Given the description of an element on the screen output the (x, y) to click on. 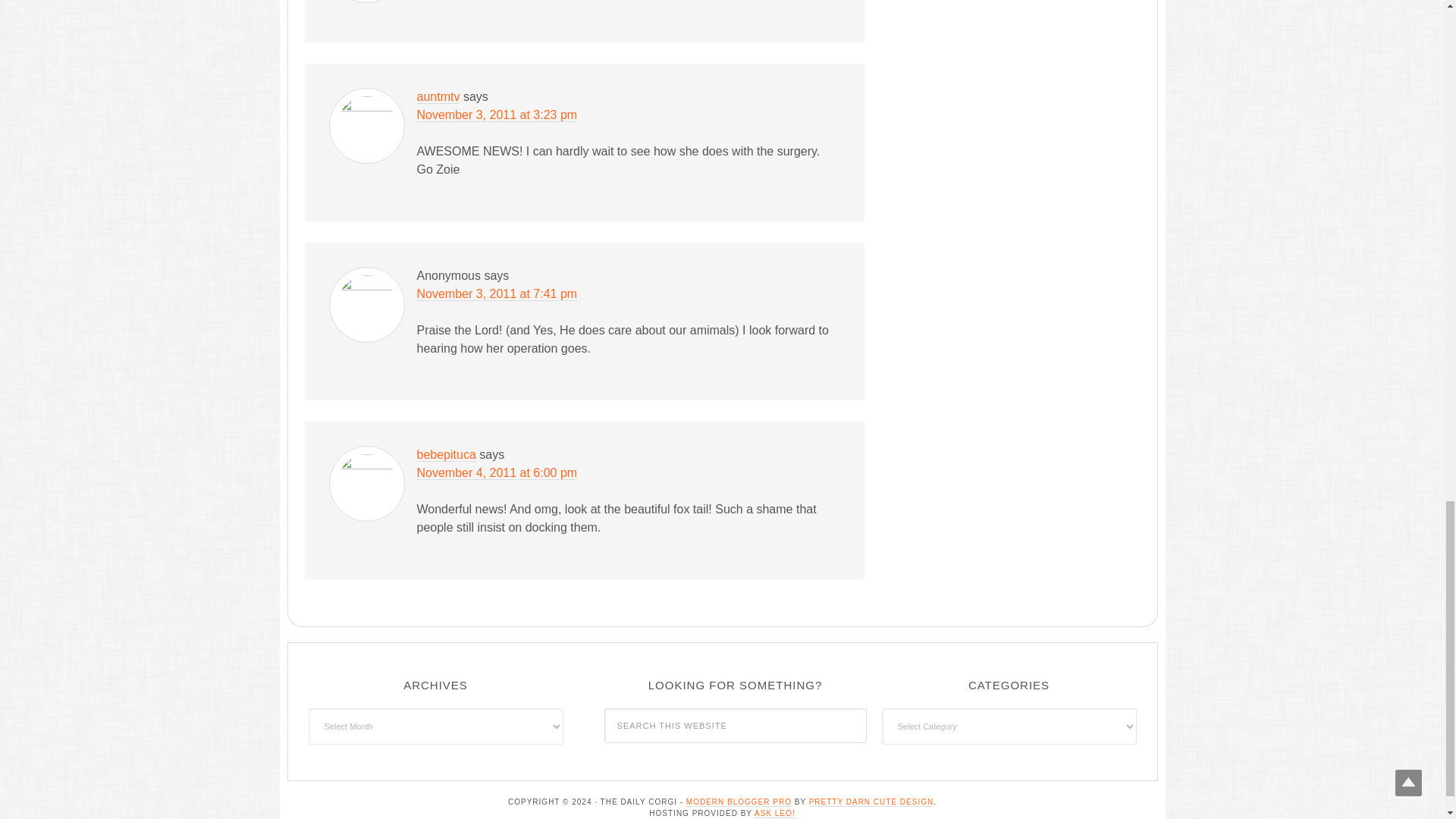
November 3, 2011 at 3:23 pm (497, 115)
November 3, 2011 at 7:41 pm (497, 294)
November 4, 2011 at 6:00 pm (497, 472)
auntmtv (438, 97)
bebepituca (446, 454)
